Given the description of an element on the screen output the (x, y) to click on. 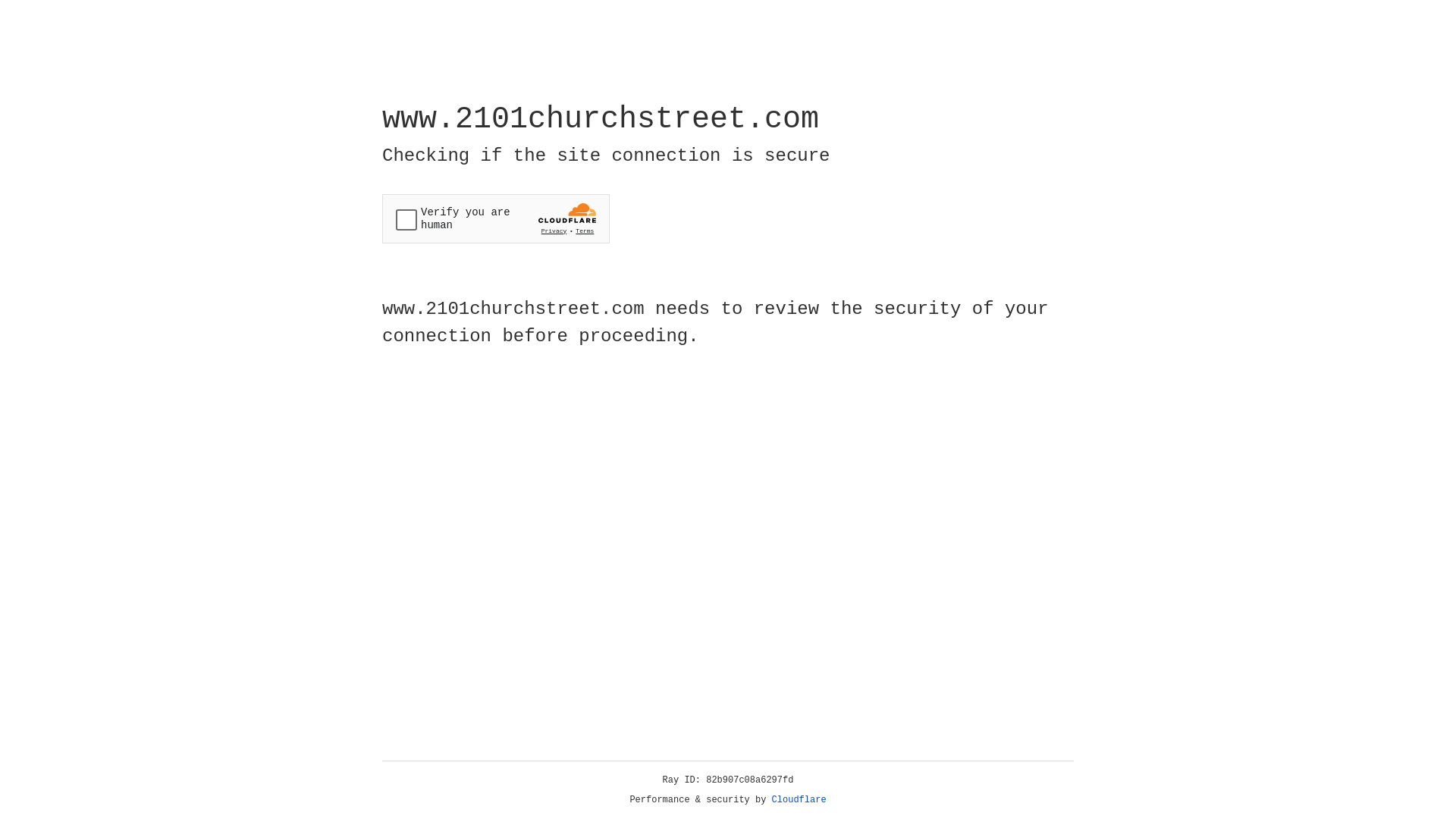
Cloudflare Element type: text (798, 799)
Widget containing a Cloudflare security challenge Element type: hover (495, 218)
